Given the description of an element on the screen output the (x, y) to click on. 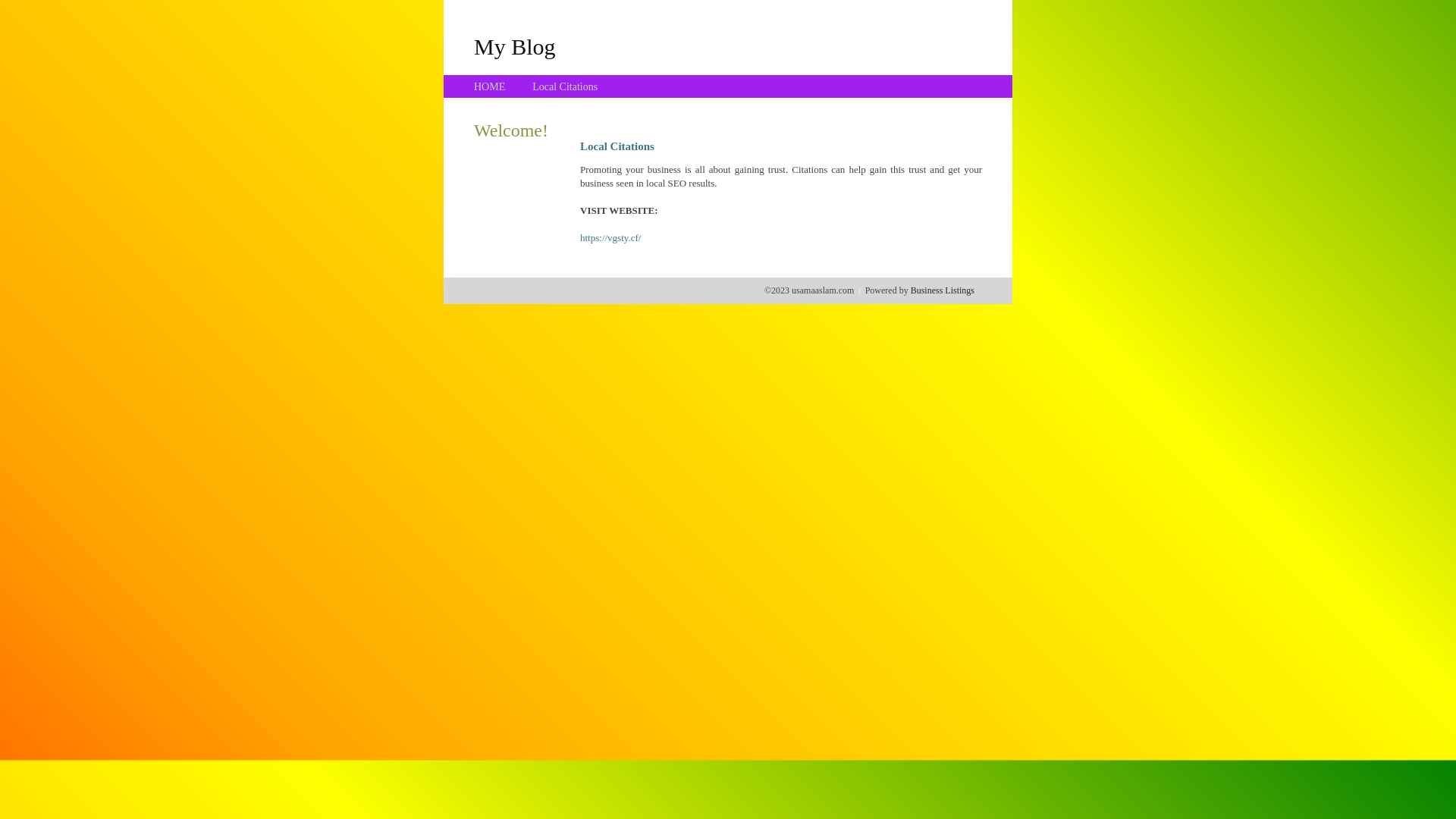
https://vgsty.cf/ Element type: text (610, 237)
Business Listings Element type: text (942, 290)
HOME Element type: text (489, 86)
My Blog Element type: text (514, 46)
Local Citations Element type: text (564, 86)
